Given the description of an element on the screen output the (x, y) to click on. 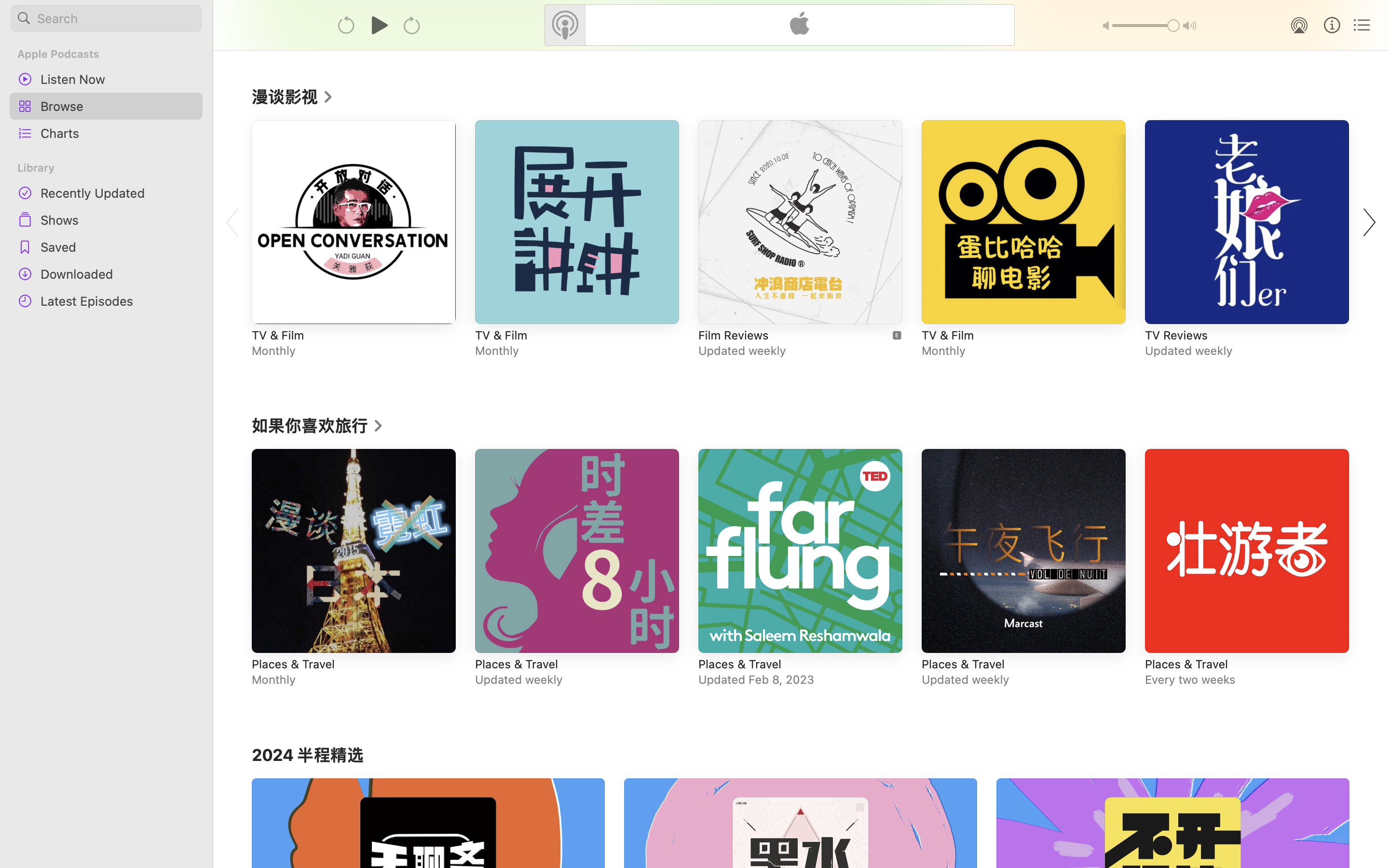
1.0 Element type: AXSlider (1145, 25)
